Given the description of an element on the screen output the (x, y) to click on. 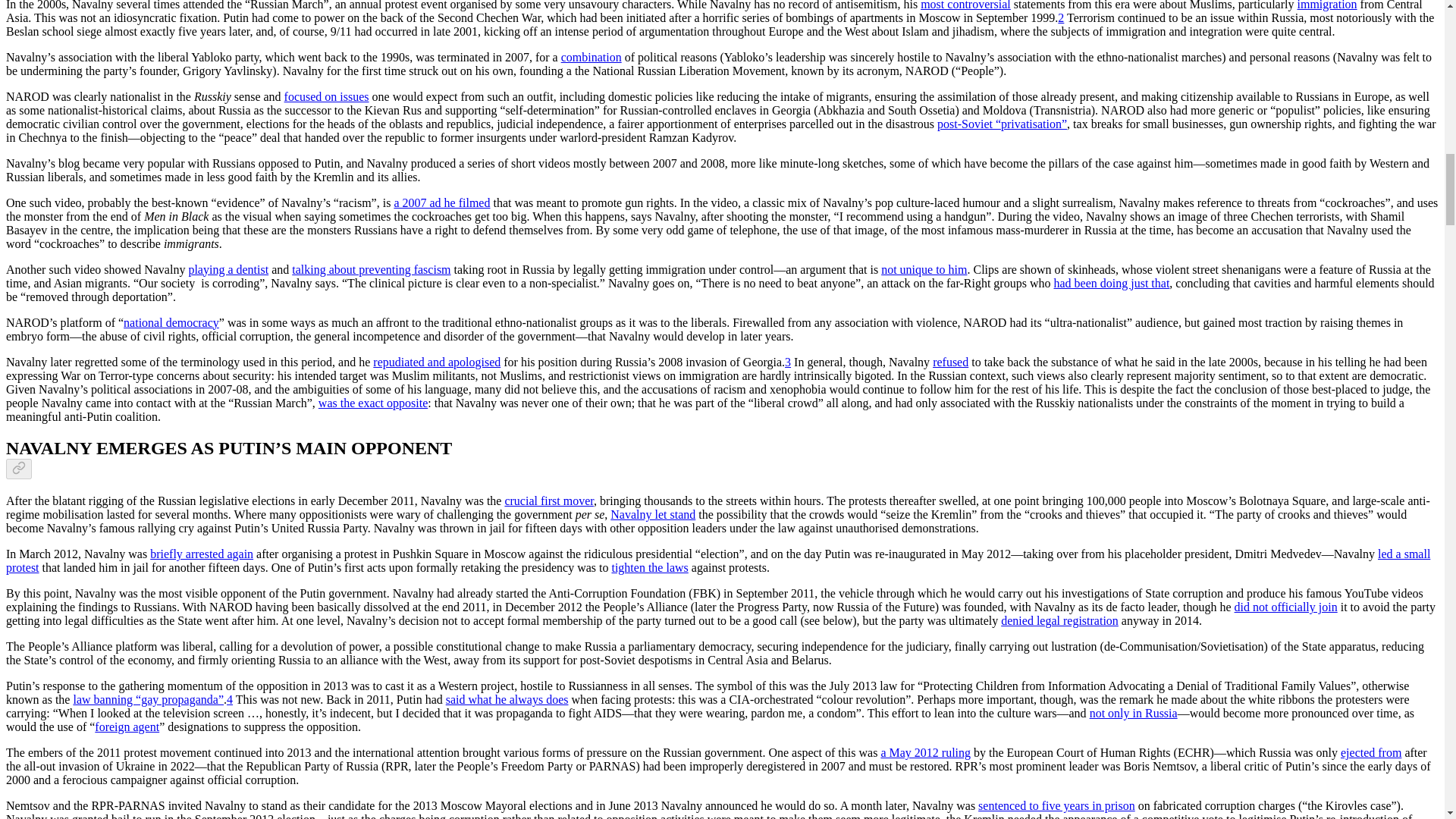
focused on issues (326, 96)
most controversial (965, 5)
a 2007 ad he filmed (441, 202)
playing a dentist (227, 269)
talking about preventing fascism (370, 269)
immigration (1326, 5)
combination (590, 56)
